Given the description of an element on the screen output the (x, y) to click on. 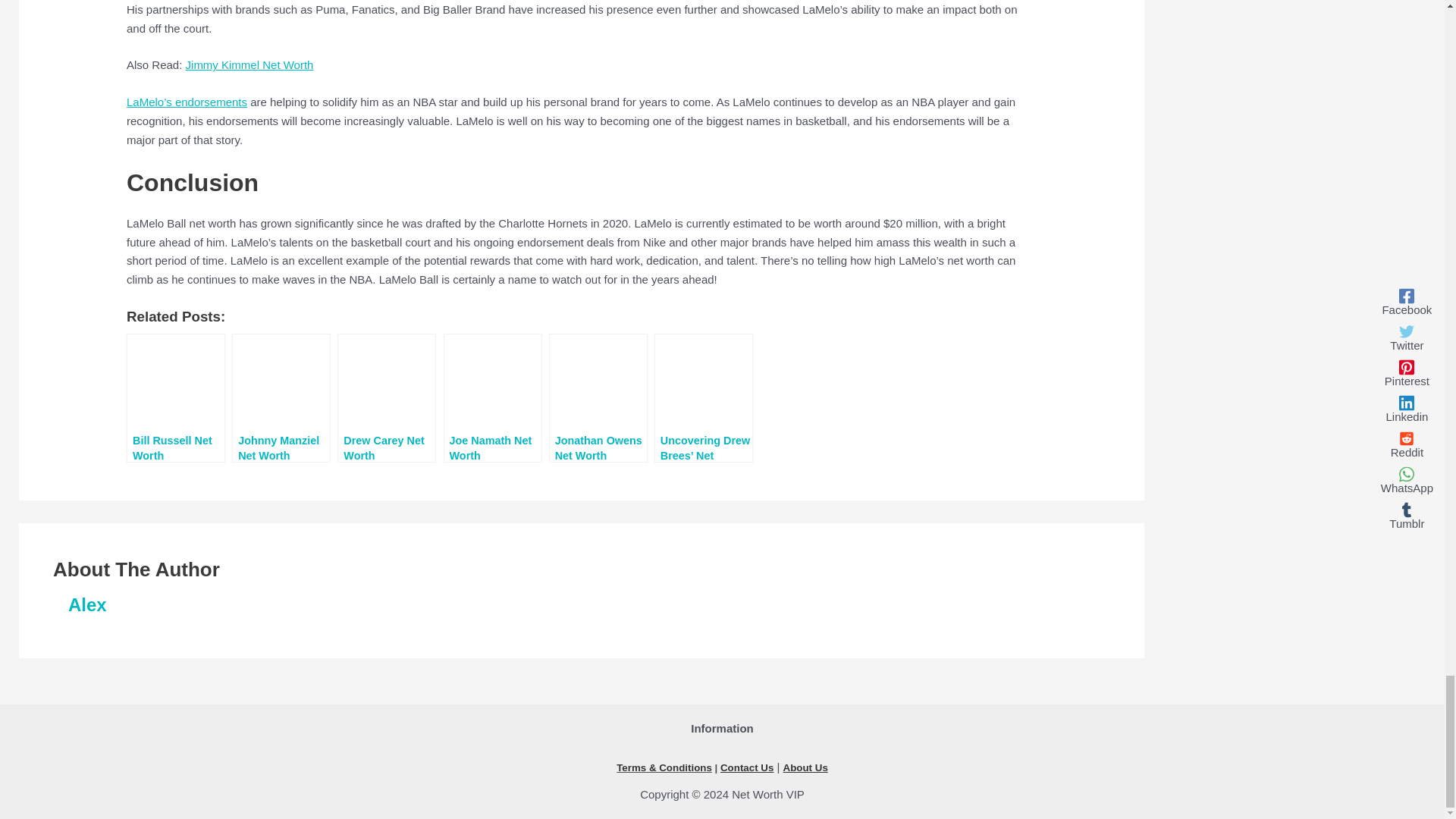
joe namath net worth 11 (493, 383)
uncovering drew brees' net worth: a comprehensive look 12 (704, 383)
